Given the description of an element on the screen output the (x, y) to click on. 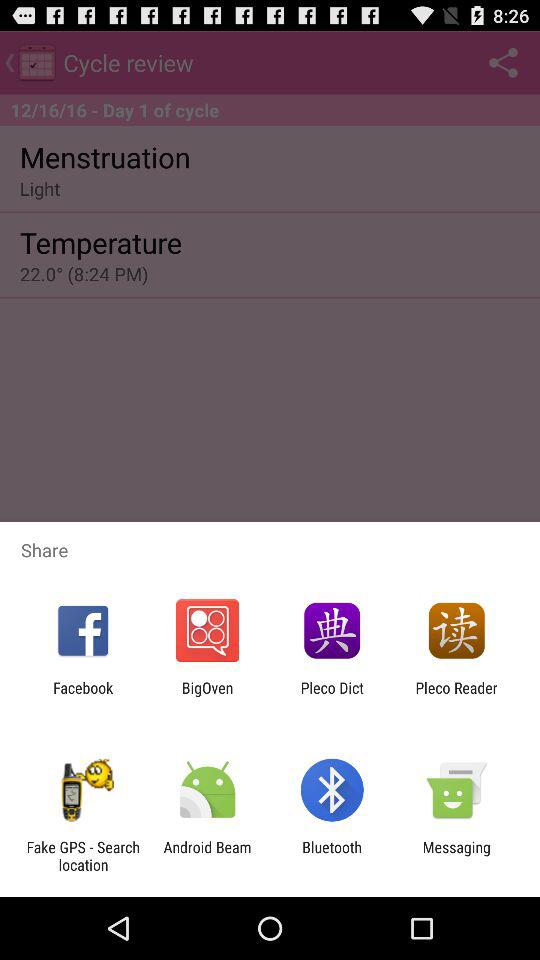
select item to the left of the pleco reader (331, 696)
